Given the description of an element on the screen output the (x, y) to click on. 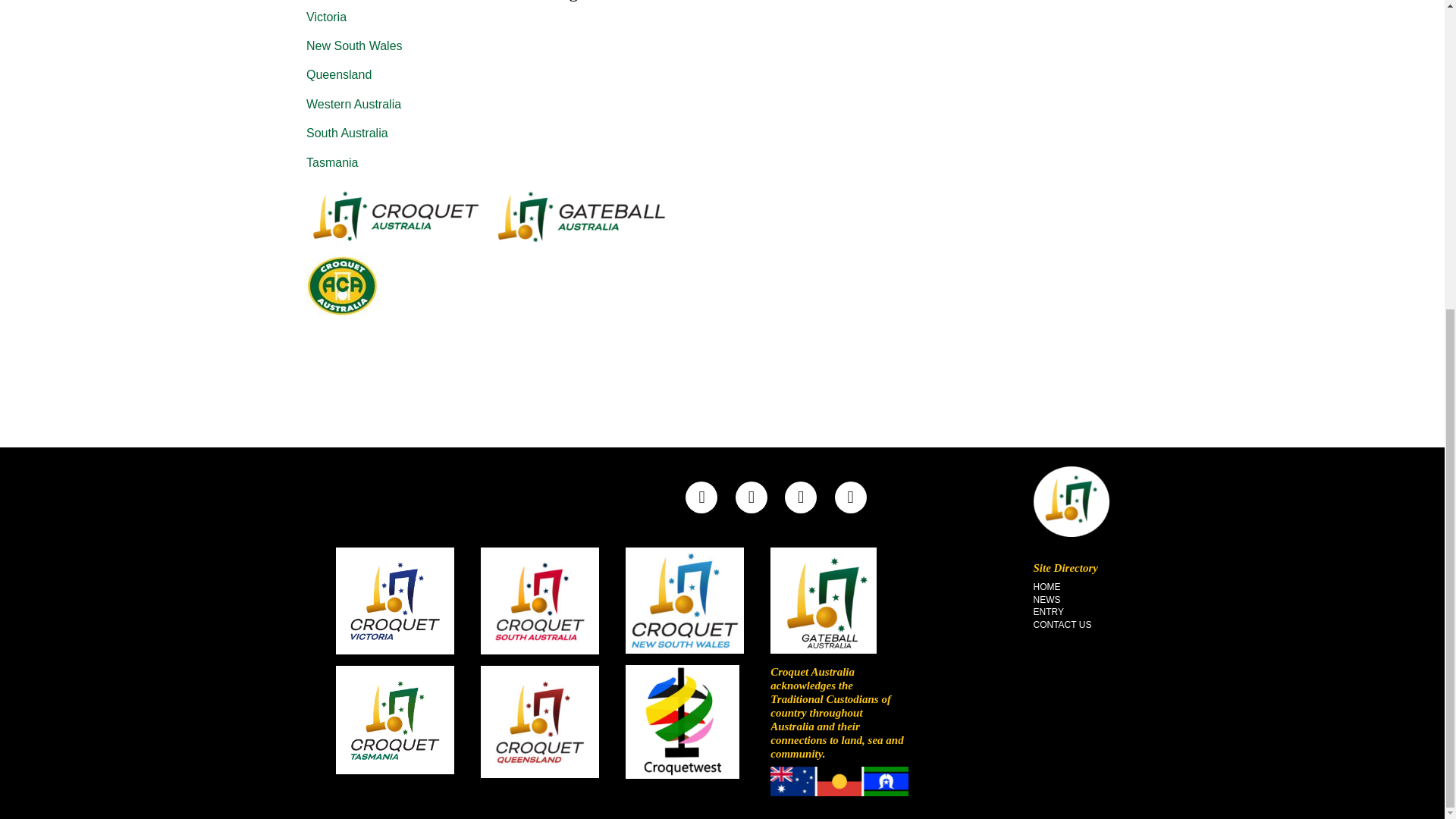
Croquet Australia (1070, 501)
